Given the description of an element on the screen output the (x, y) to click on. 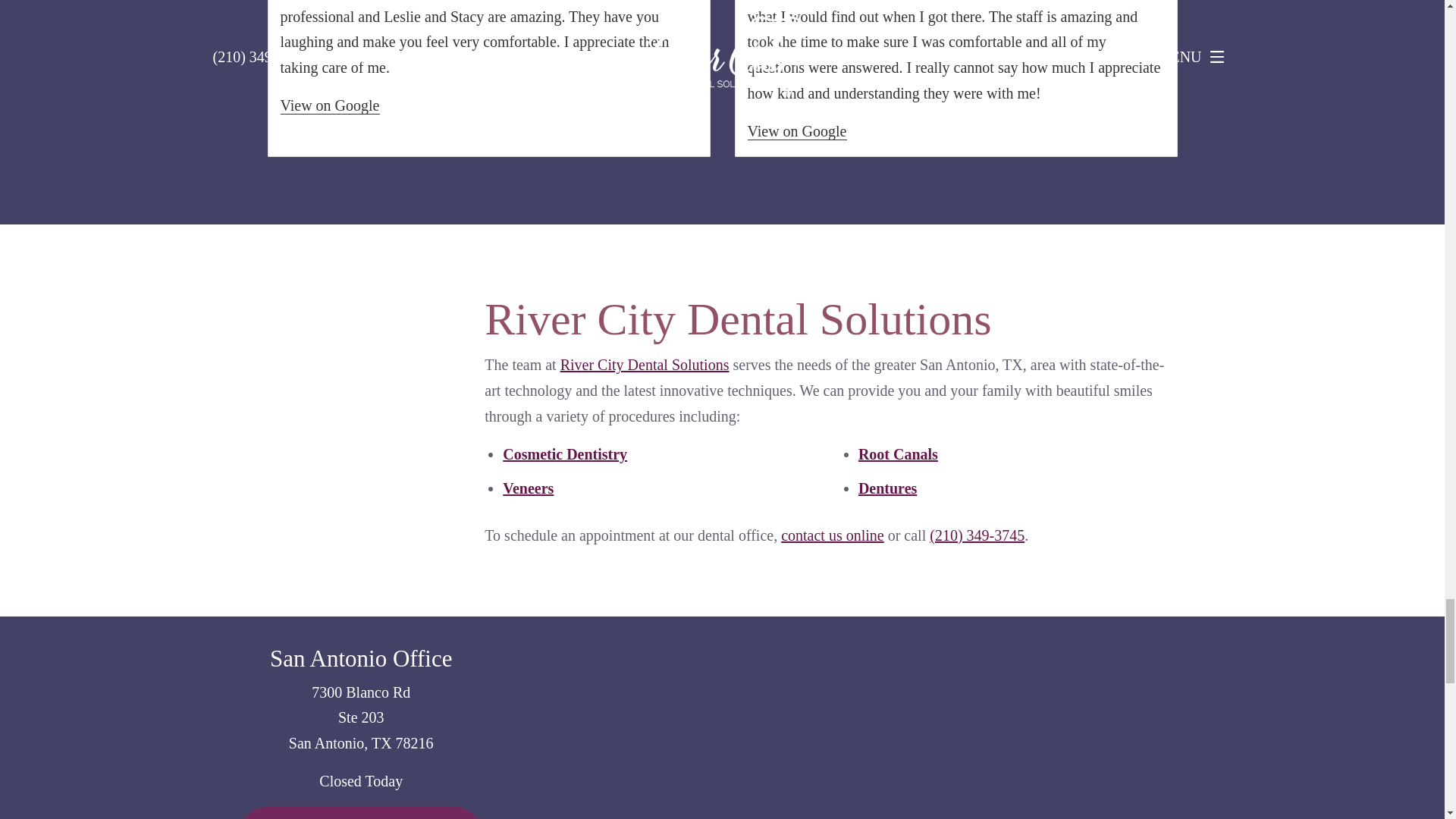
River City Dental Solutions (644, 364)
Cosmetic Dentistry (564, 453)
View on Google (330, 105)
View on Google (797, 131)
Root Canals (898, 453)
Veneers (527, 487)
Locations (995, 628)
